Given the description of an element on the screen output the (x, y) to click on. 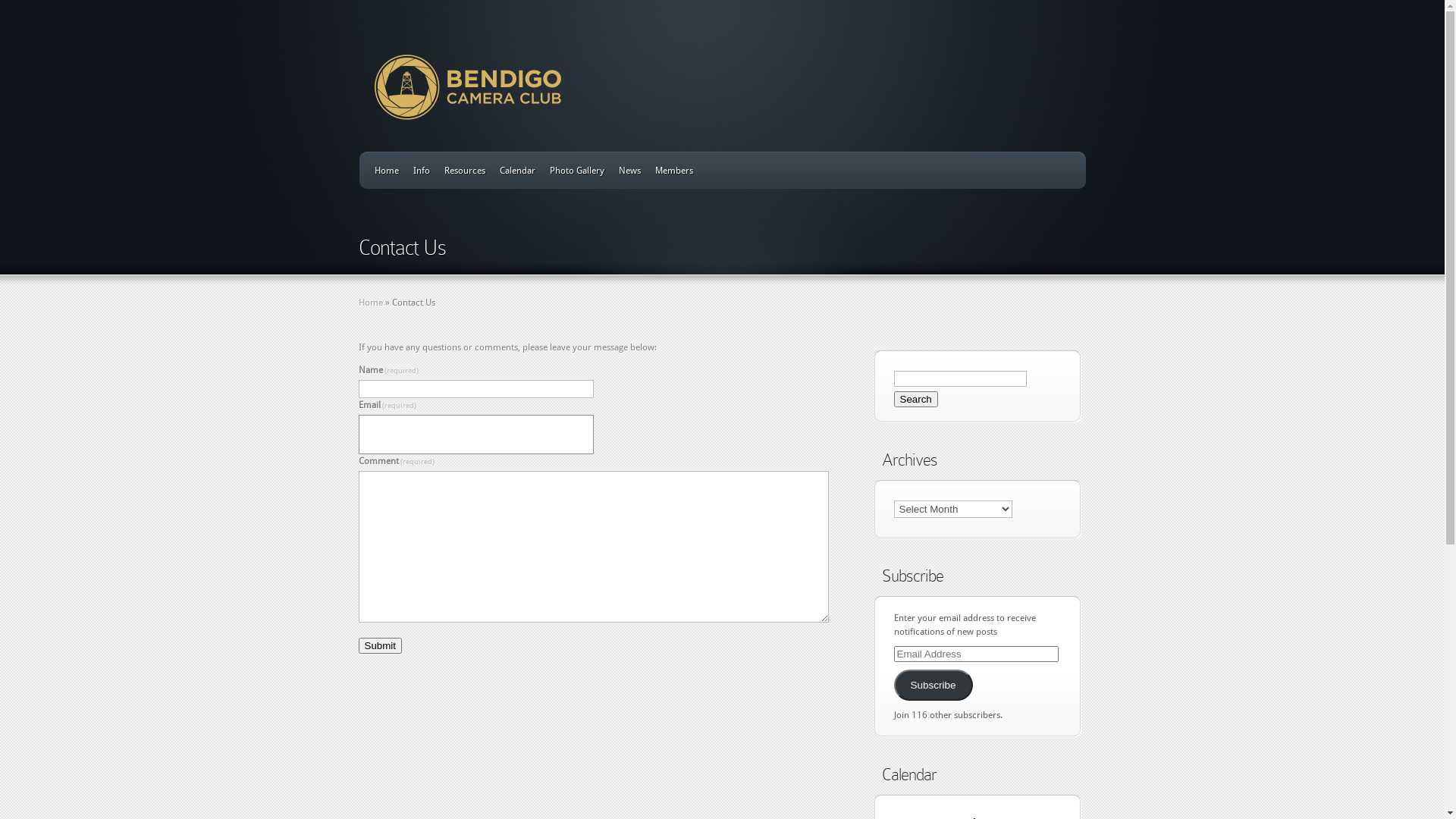
Subscribe Element type: text (932, 684)
Search Element type: text (915, 399)
Members Element type: text (674, 170)
Photo Gallery Element type: text (576, 170)
Resources Element type: text (464, 170)
Home Element type: text (369, 302)
Home Element type: text (386, 170)
News Element type: text (629, 170)
Submit Element type: text (379, 645)
Info Element type: text (420, 170)
Calendar Element type: text (516, 170)
